Given the description of an element on the screen output the (x, y) to click on. 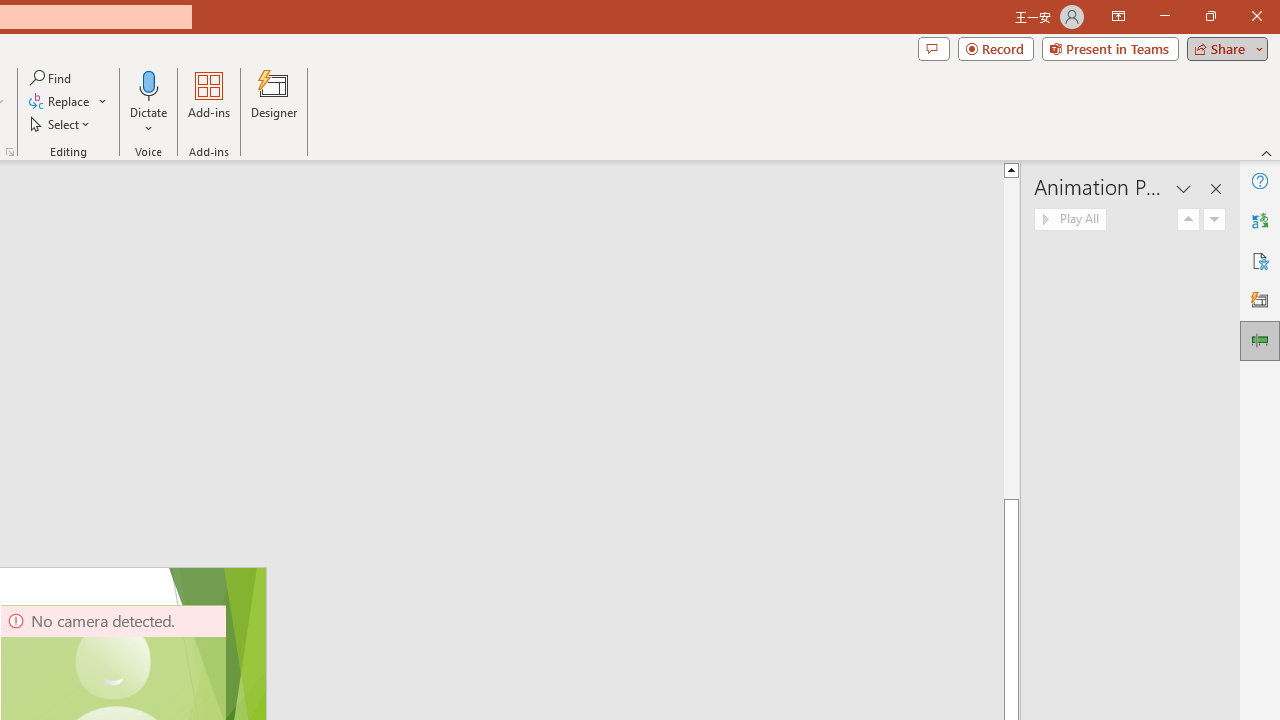
Move Down (1214, 219)
Animation Pane (1260, 340)
Play All (1070, 219)
